Given the description of an element on the screen output the (x, y) to click on. 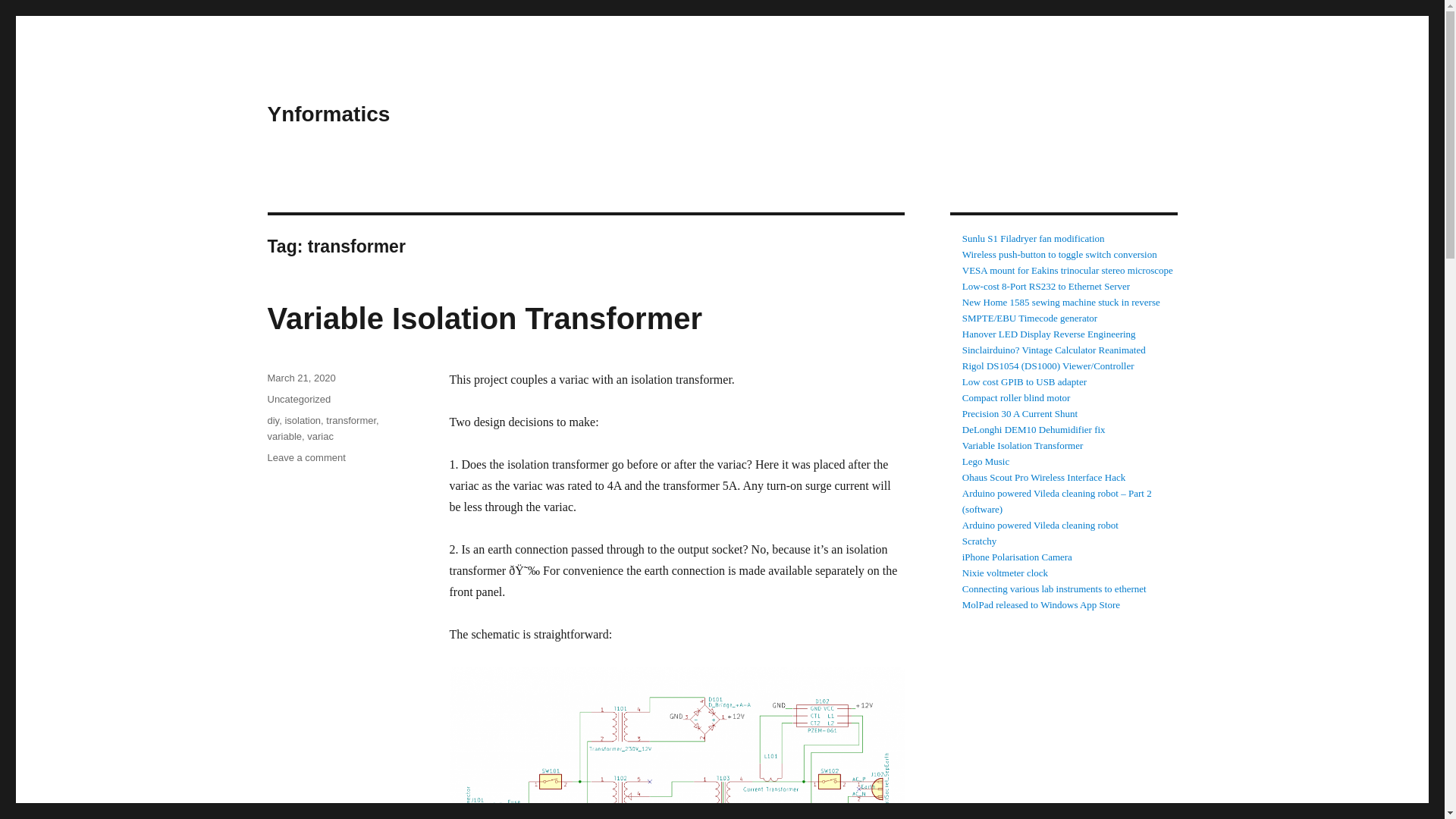
Low cost GPIB to USB adapter (1024, 381)
variac (320, 436)
Variable Isolation Transformer (483, 318)
Low-cost 8-Port RS232 to Ethernet Server (1045, 285)
Ynformatics (328, 114)
Lego Music (985, 460)
Wireless push-button to toggle switch conversion (1059, 254)
VESA mount for Eakins trinocular stereo microscope (1067, 270)
Sunlu S1 Filadryer fan modification (1033, 238)
Arduino powered Vileda cleaning robot (1040, 524)
